Given the description of an element on the screen output the (x, y) to click on. 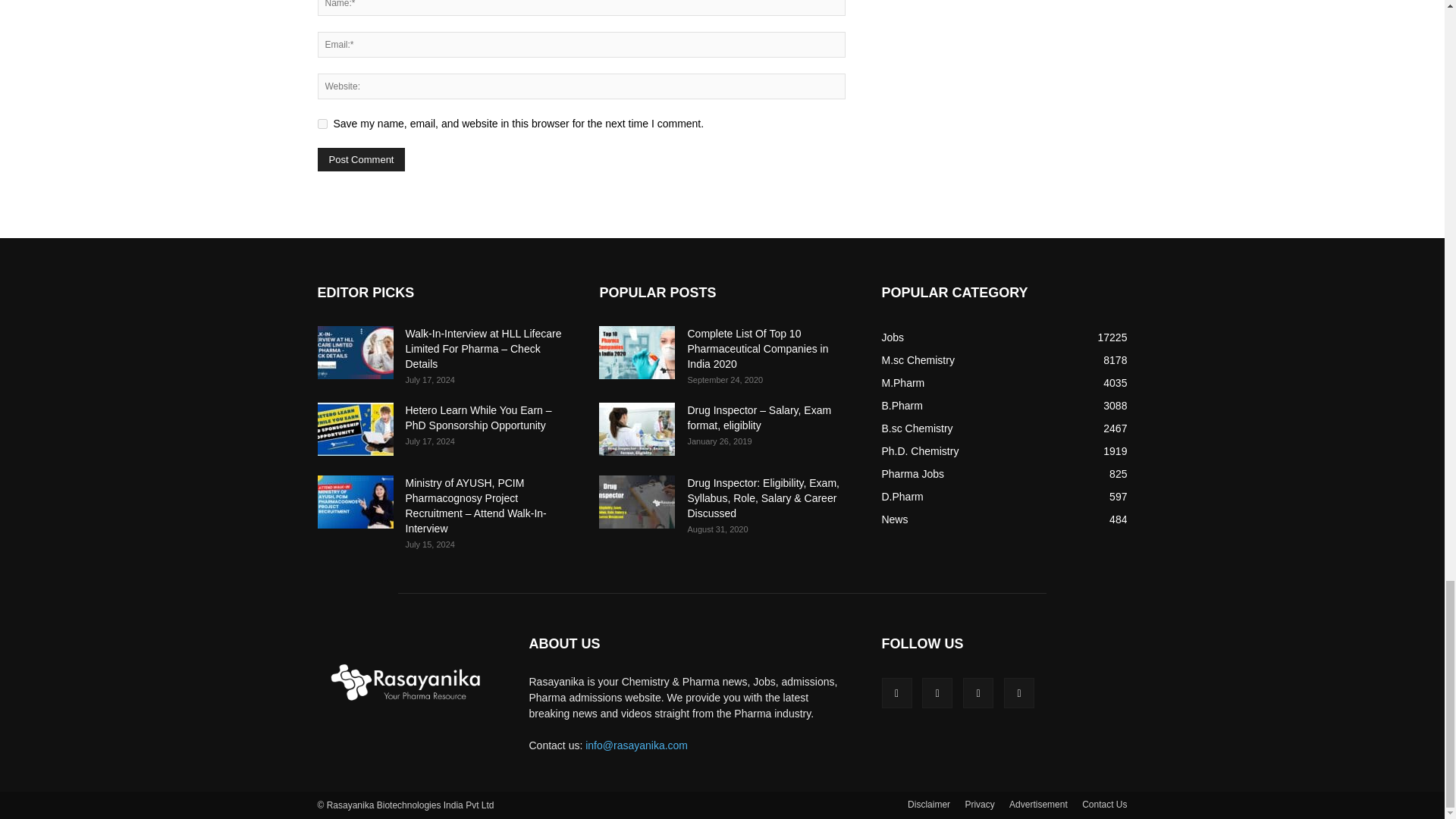
yes (321, 123)
Post Comment (360, 159)
